Given the description of an element on the screen output the (x, y) to click on. 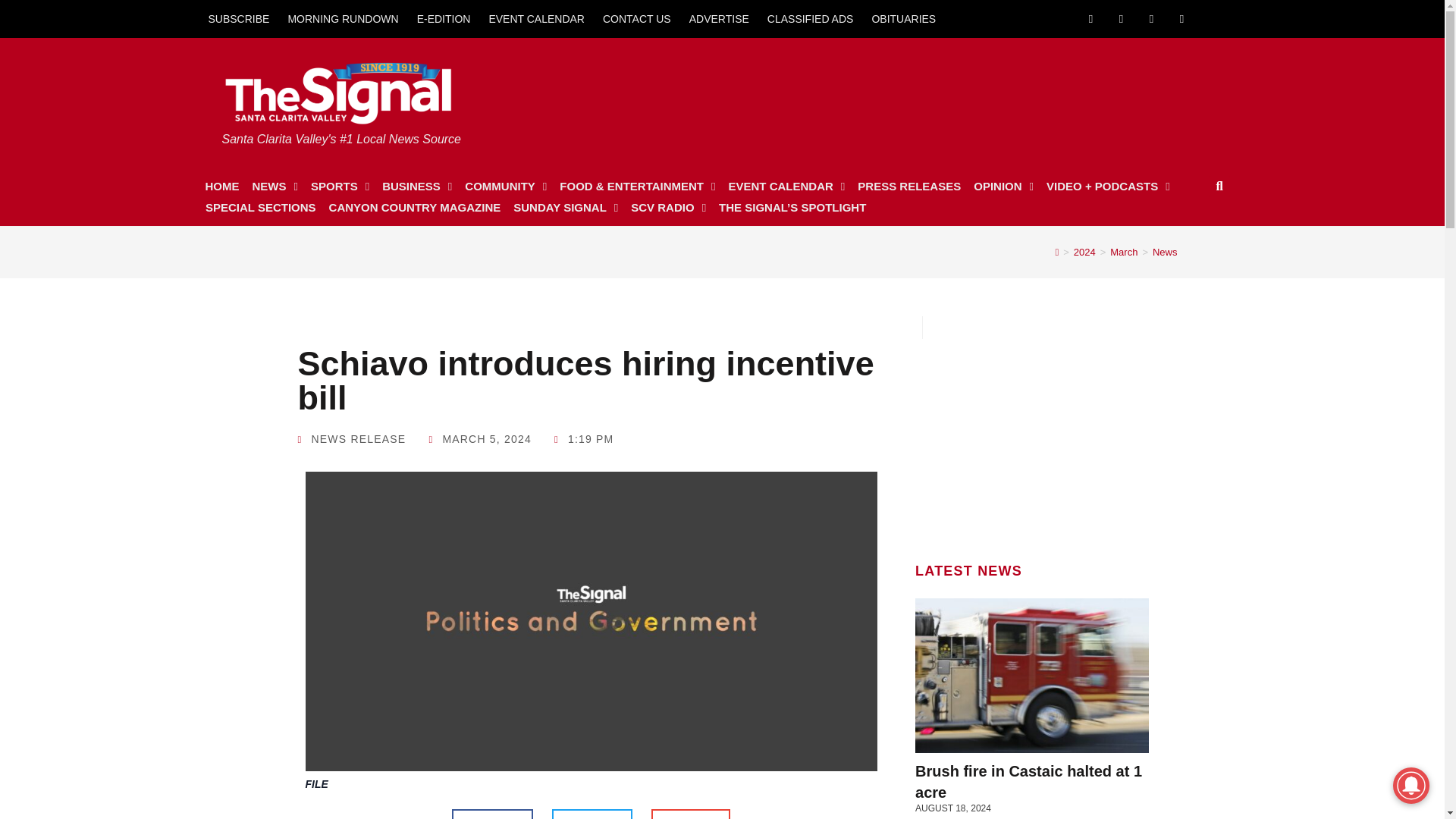
3rd party ad content (932, 94)
ADVERTISE (718, 18)
SPORTS (339, 186)
MORNING RUNDOWN (342, 18)
E-EDITION (443, 18)
3rd party ad content (1031, 433)
SUBSCRIBE (238, 18)
HOME (221, 186)
CLASSIFIED ADS (810, 18)
CONTACT US (636, 18)
